Given the description of an element on the screen output the (x, y) to click on. 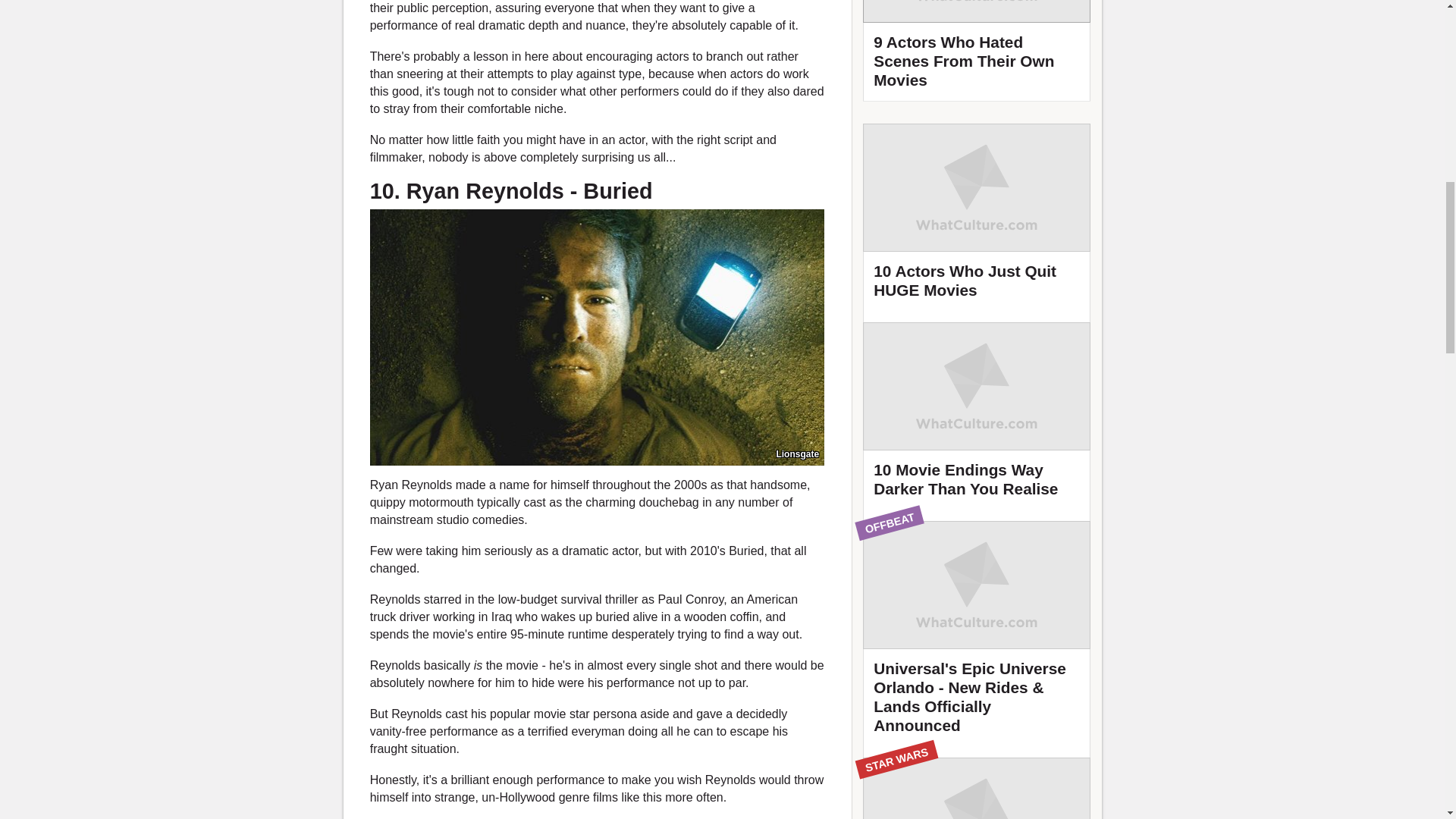
10 Huge Star Wars Moments That Happened In The Background (976, 788)
10 Movie Endings Way Darker Than You Realise (976, 416)
Featured Video (976, 50)
10 Actors Who Just Quit HUGE Movies (976, 217)
